Given the description of an element on the screen output the (x, y) to click on. 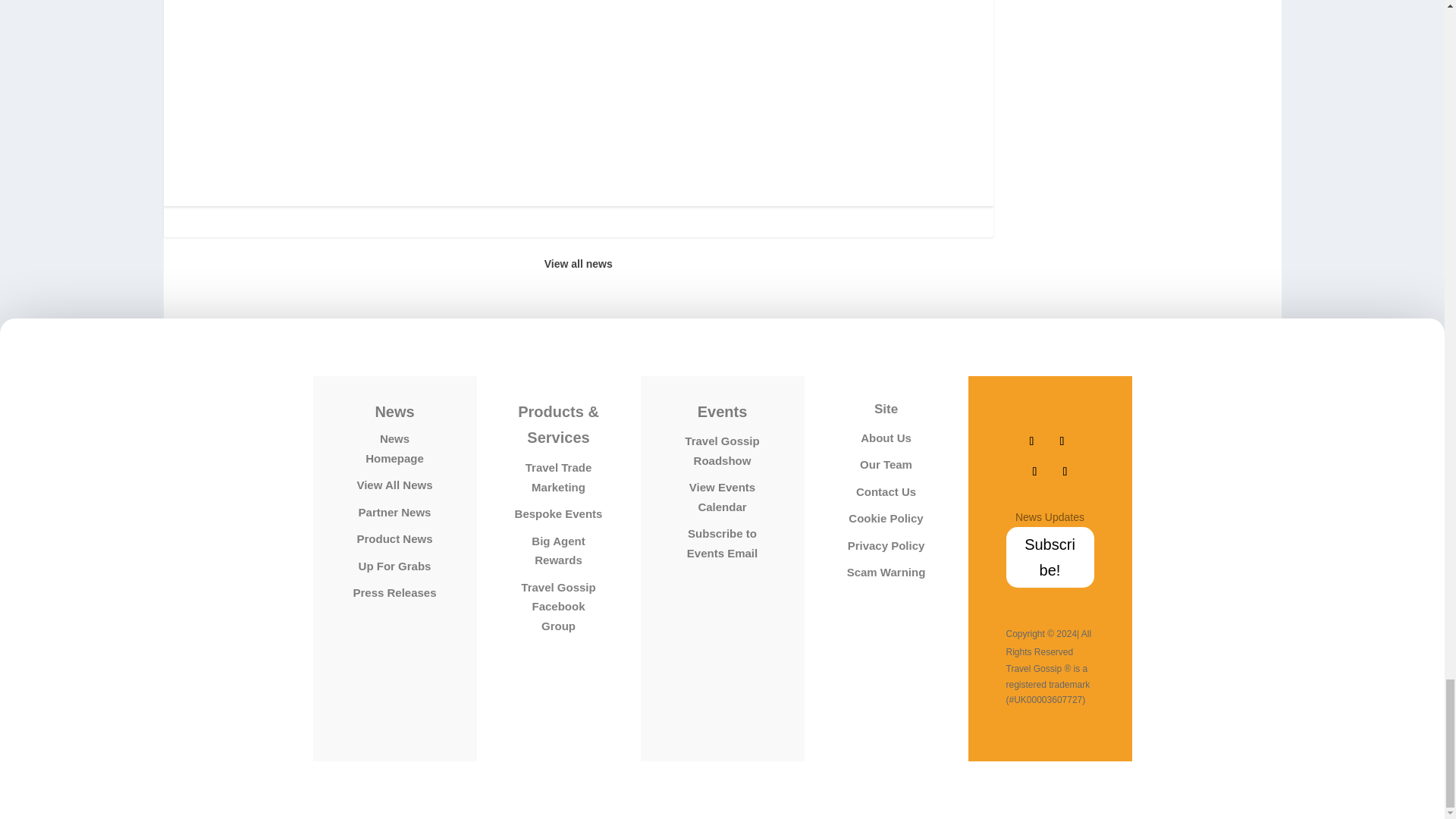
Follow on Instagram (1034, 471)
Follow on X (1061, 441)
Follow on LinkedIn (1064, 471)
Follow on Facebook (1031, 441)
